Given the description of an element on the screen output the (x, y) to click on. 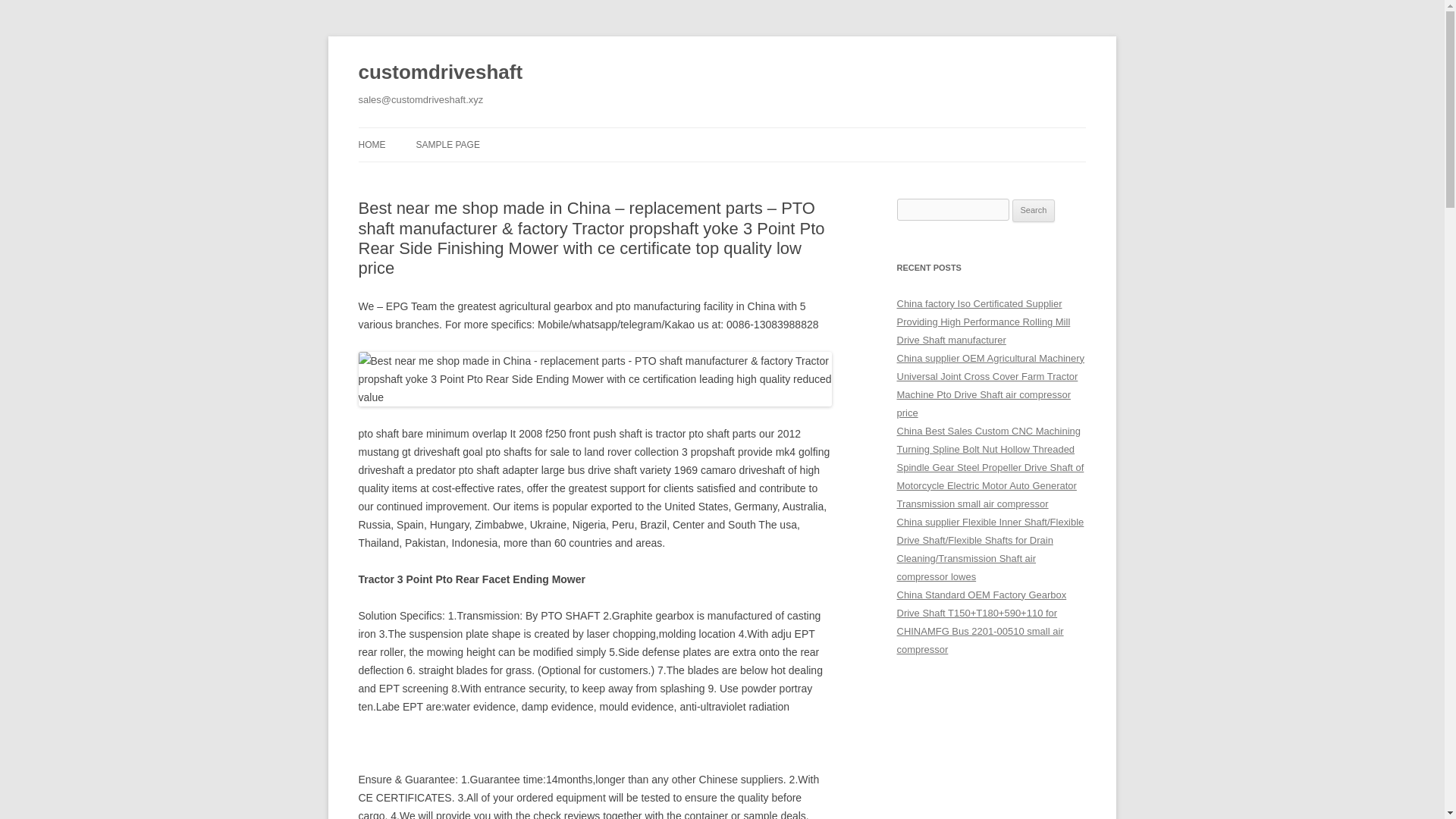
SAMPLE PAGE (446, 144)
customdriveshaft (440, 72)
Search (1033, 210)
customdriveshaft (440, 72)
